Given the description of an element on the screen output the (x, y) to click on. 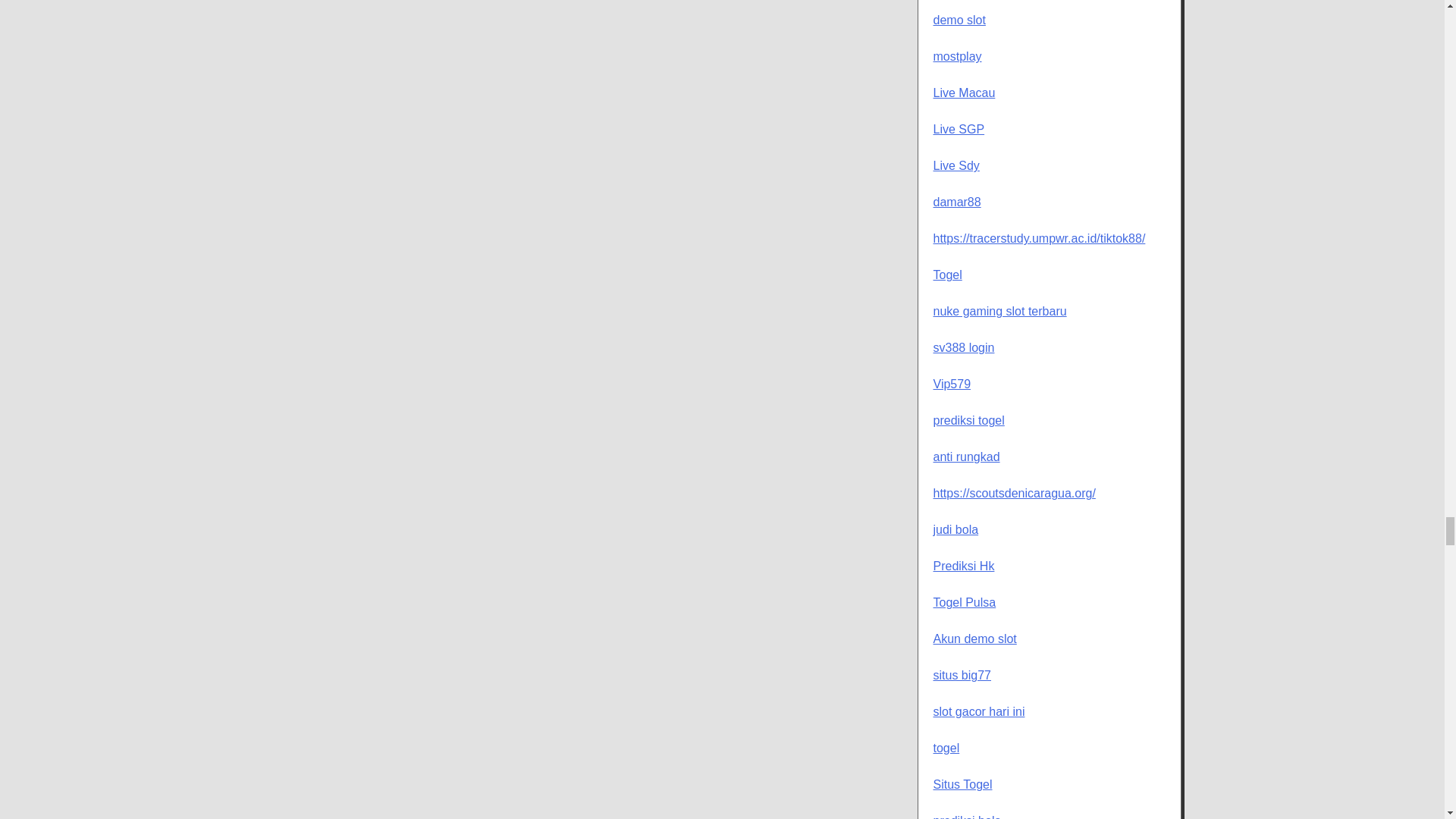
prediksi bola (967, 816)
